Given the description of an element on the screen output the (x, y) to click on. 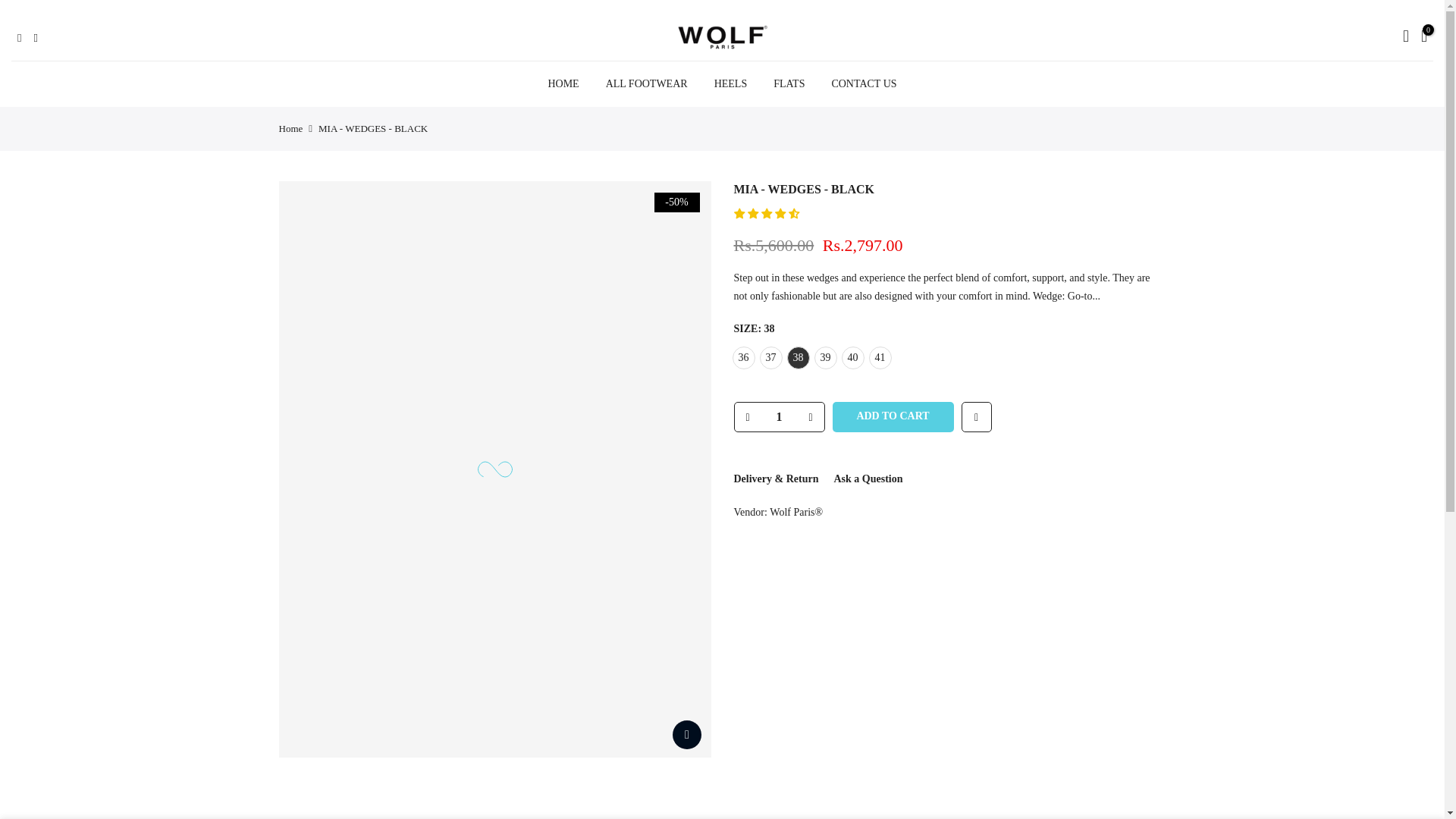
Ask a Question (867, 478)
HEELS (730, 84)
ADD TO CART (892, 417)
ALL FOOTWEAR (646, 84)
FLATS (789, 84)
HOME (563, 84)
1 (778, 416)
CONTACT US (864, 84)
Home (290, 128)
